Given the description of an element on the screen output the (x, y) to click on. 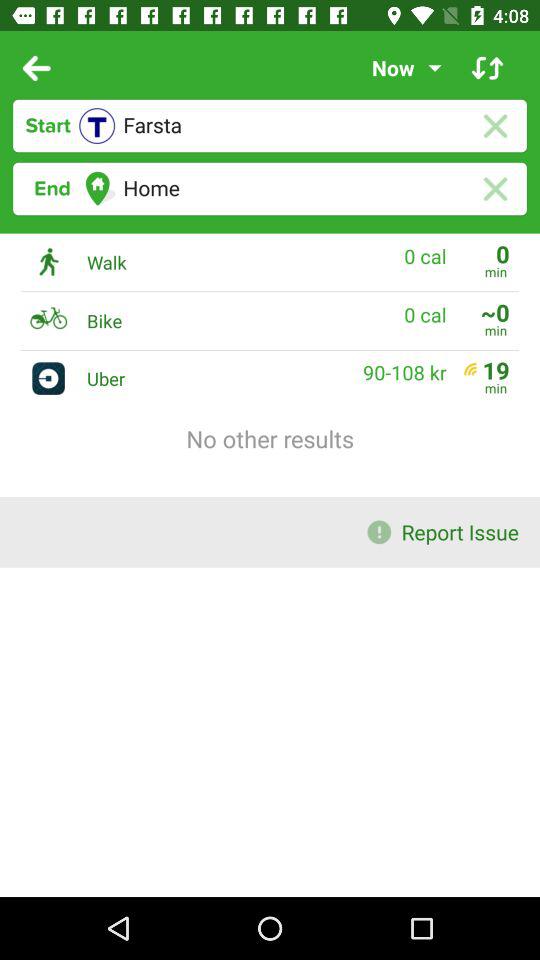
close (494, 125)
